Given the description of an element on the screen output the (x, y) to click on. 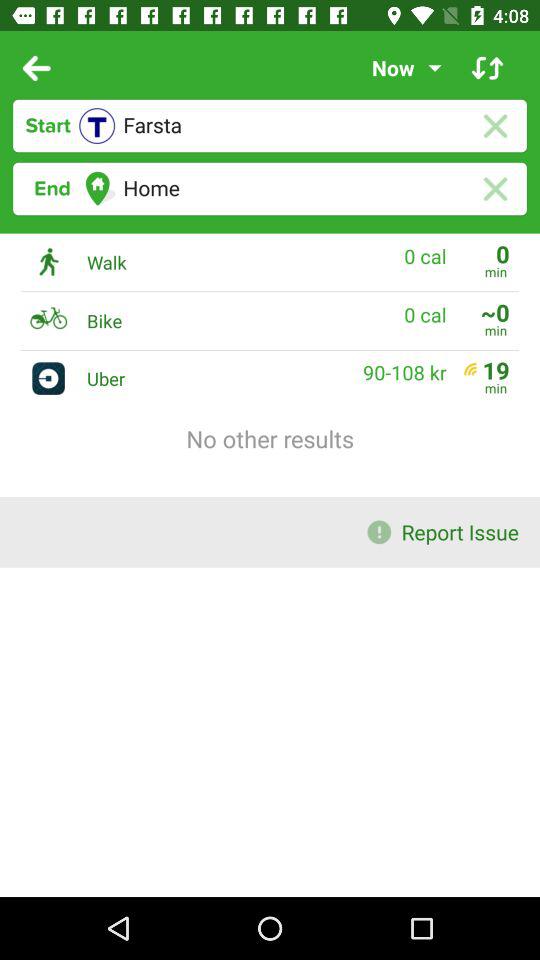
close (494, 125)
